Given the description of an element on the screen output the (x, y) to click on. 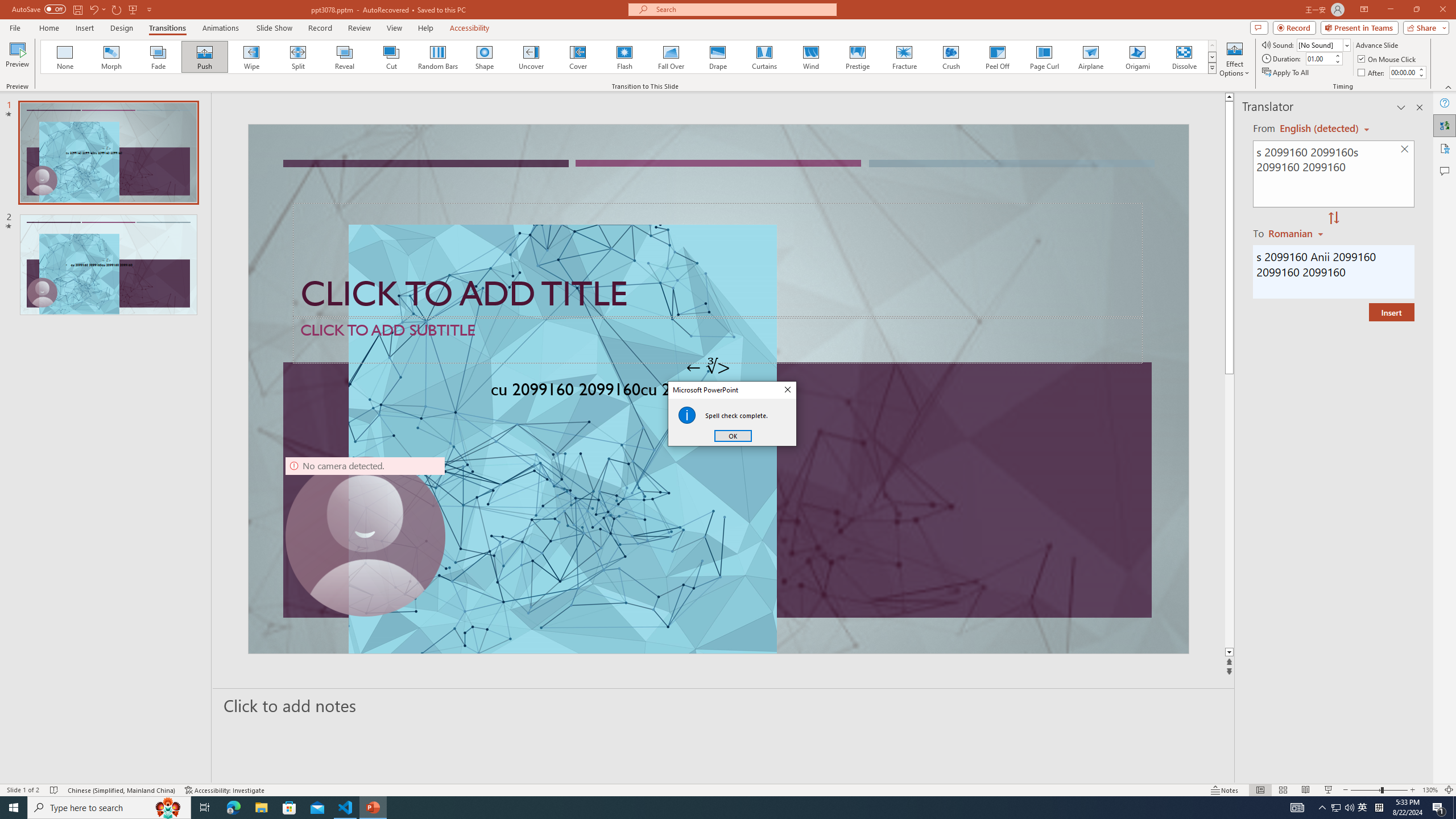
Page Curl (1043, 56)
After (1372, 72)
Effect Options (1234, 58)
Action Center, 1 new notification (1439, 807)
